Given the description of an element on the screen output the (x, y) to click on. 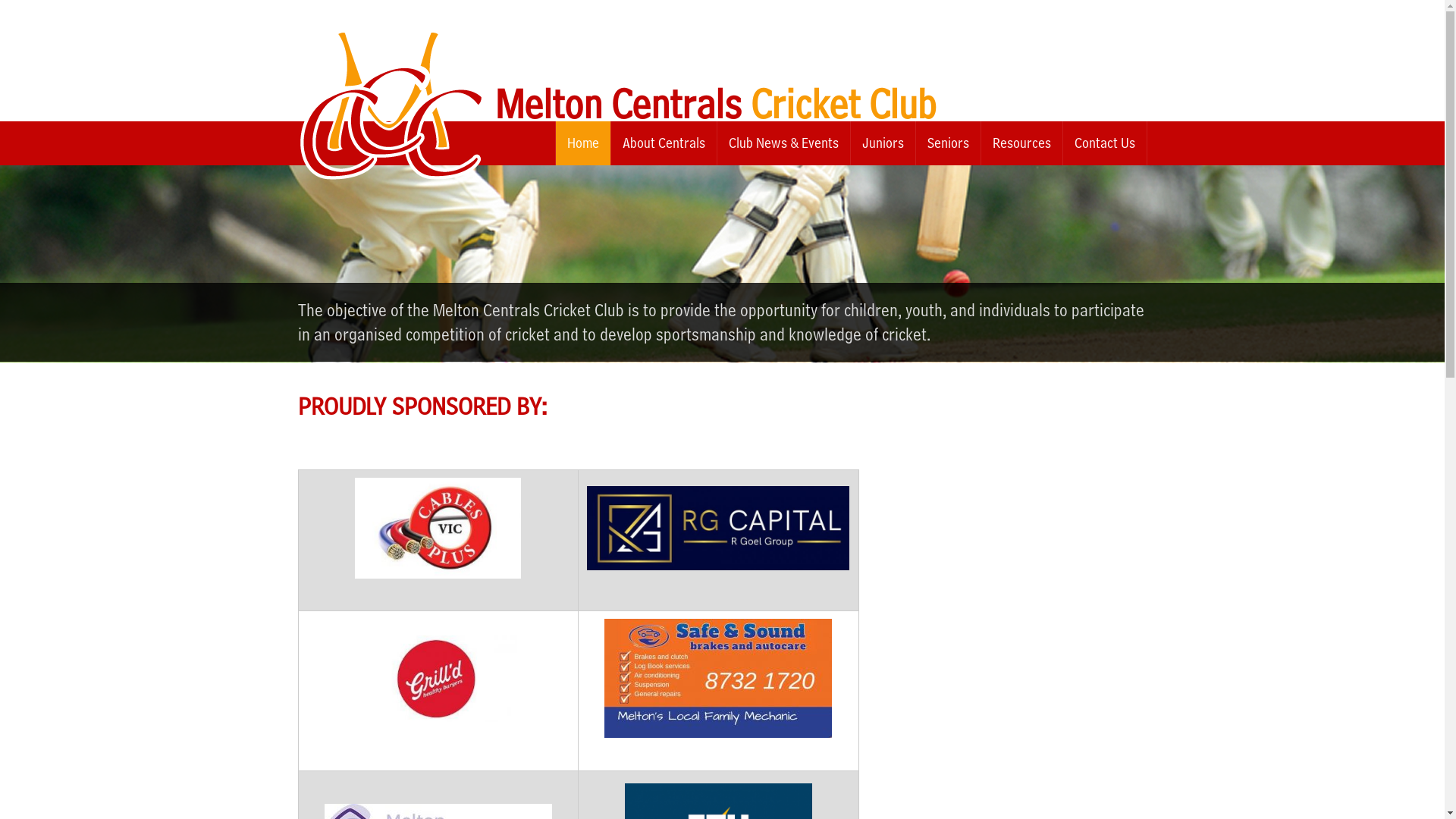
Home Element type: text (582, 143)
About Centrals Element type: text (663, 143)
Club News & Events Element type: text (783, 143)
Contact Us Element type: text (1104, 143)
Seniors Element type: text (948, 143)
Juniors Element type: text (882, 143)
Resources Element type: text (1021, 143)
